Given the description of an element on the screen output the (x, y) to click on. 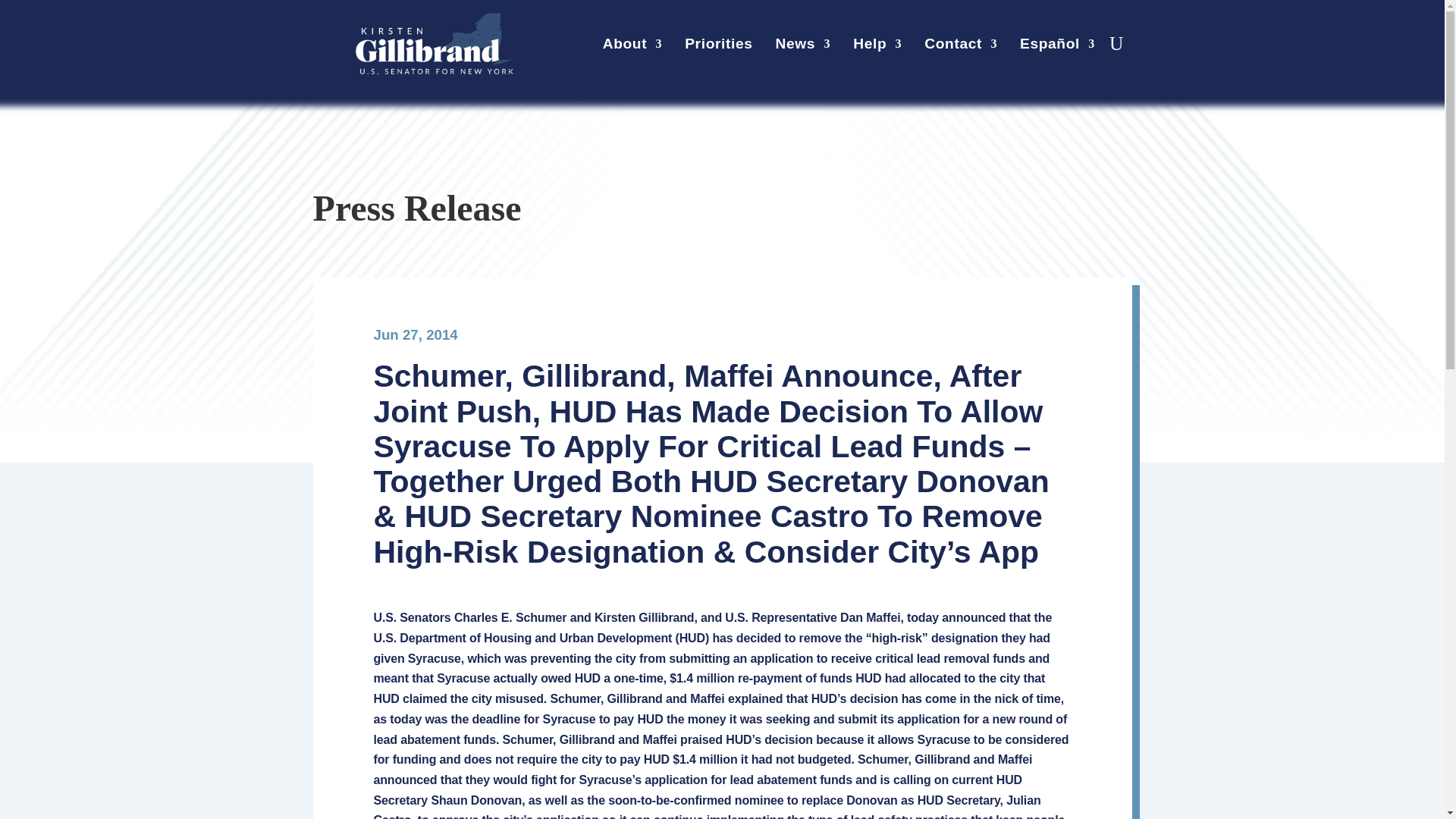
Priorities (718, 46)
Contact (960, 46)
gillibrand-logo (434, 43)
Help (877, 46)
About (632, 46)
News (803, 46)
